Given the description of an element on the screen output the (x, y) to click on. 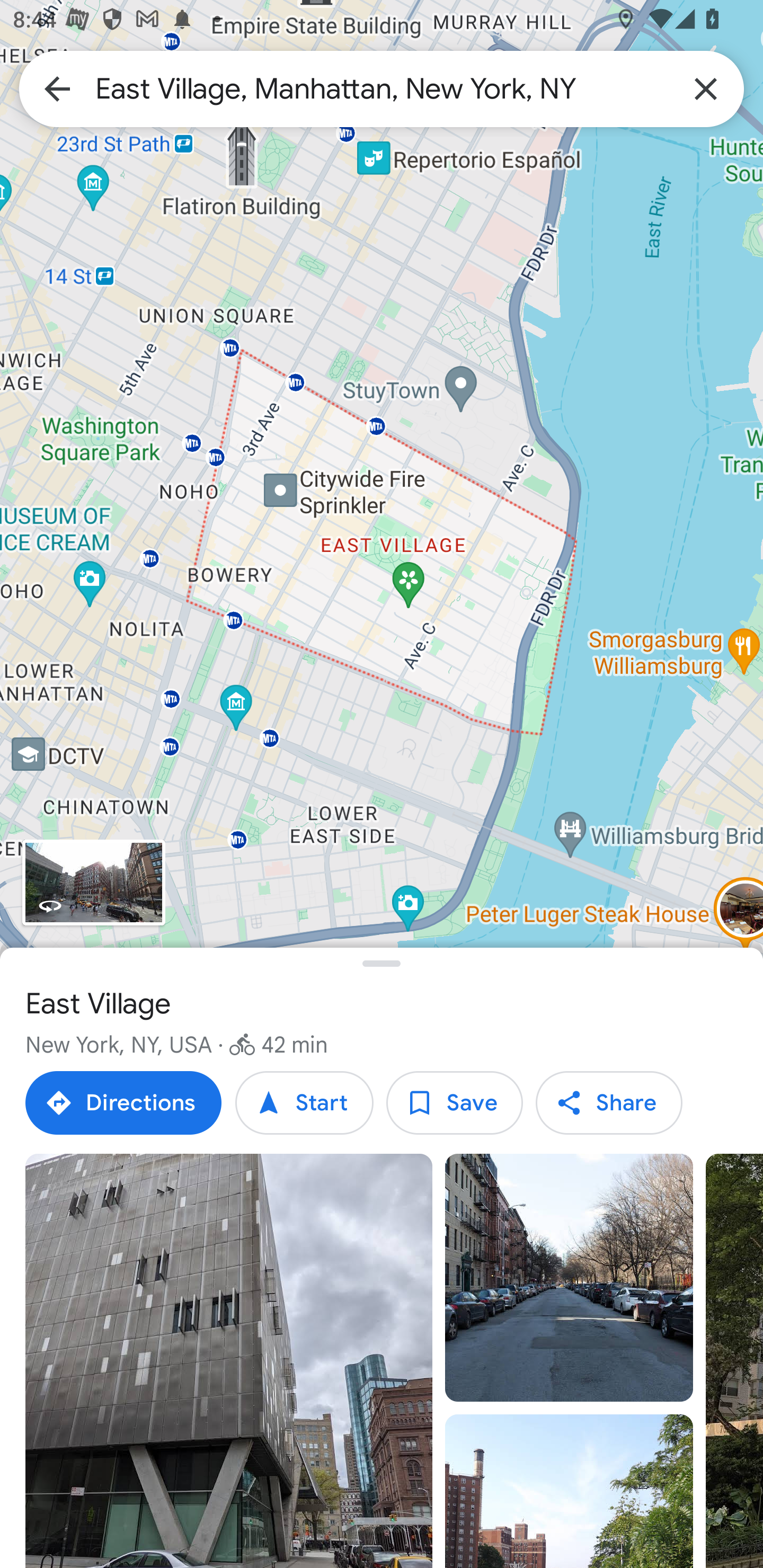
Back (57, 88)
East Village, Manhattan, New York, NY (381, 88)
Clear (705, 88)
View Street view imagery for East Village (93, 881)
Start Start Start (304, 1102)
Share East Village Share Share East Village (608, 1102)
Photo (228, 1361)
Photo (568, 1277)
Photo (568, 1491)
